Given the description of an element on the screen output the (x, y) to click on. 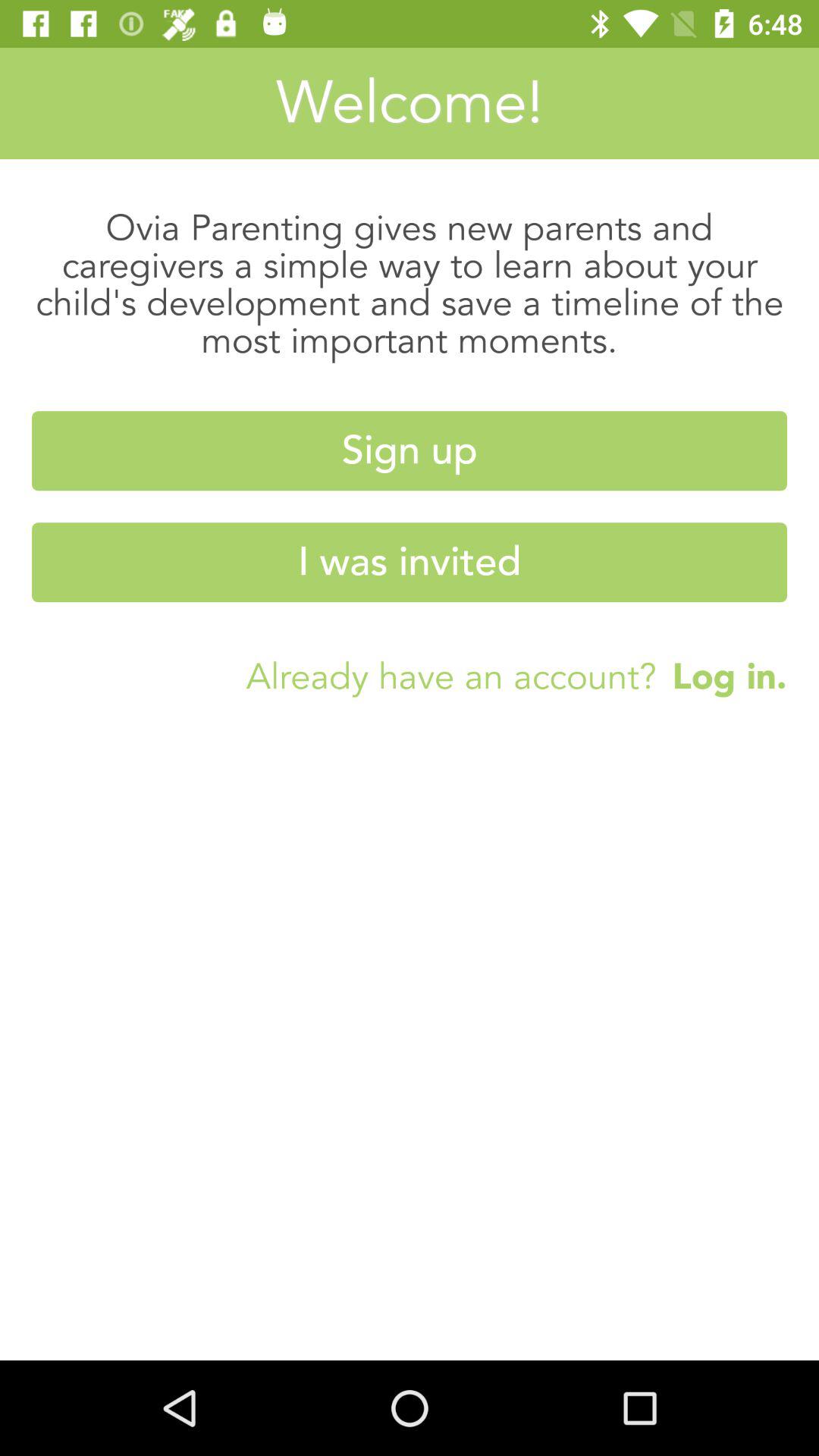
turn on the log in. on the right (721, 675)
